Given the description of an element on the screen output the (x, y) to click on. 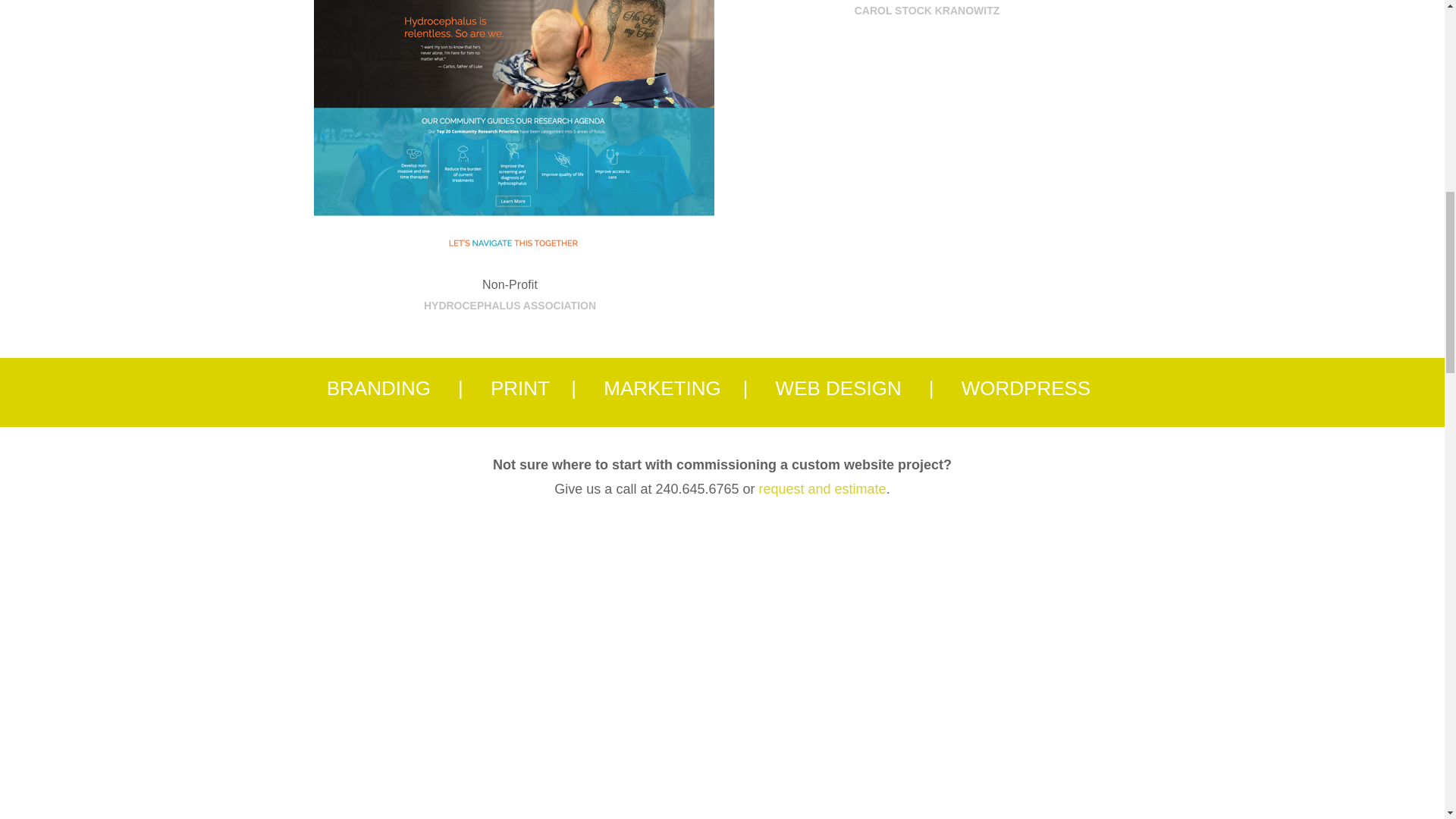
PRINT (520, 387)
WEB DESIGN (838, 387)
WORDPRESS (1025, 387)
MARKETING (662, 387)
BRANDING (378, 387)
request and estimate (822, 488)
